Given the description of an element on the screen output the (x, y) to click on. 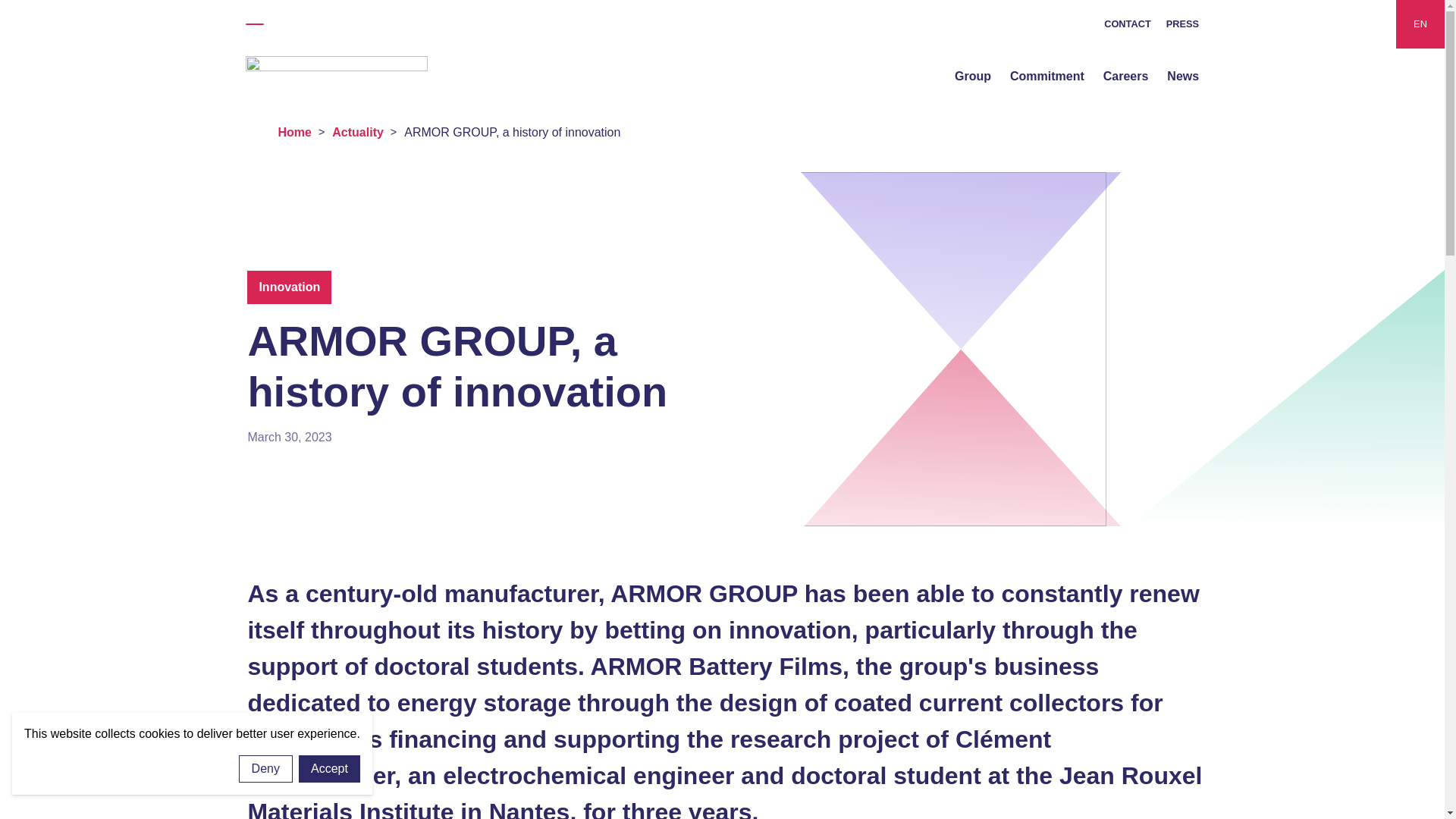
Careers (1125, 76)
Deny (265, 768)
Actuality (363, 132)
ARMOR GROUP, a history of innovation (512, 132)
PRESS (1182, 23)
Accept (328, 768)
Commitment (1047, 76)
Home (301, 132)
CONTACT (1127, 23)
